Given the description of an element on the screen output the (x, y) to click on. 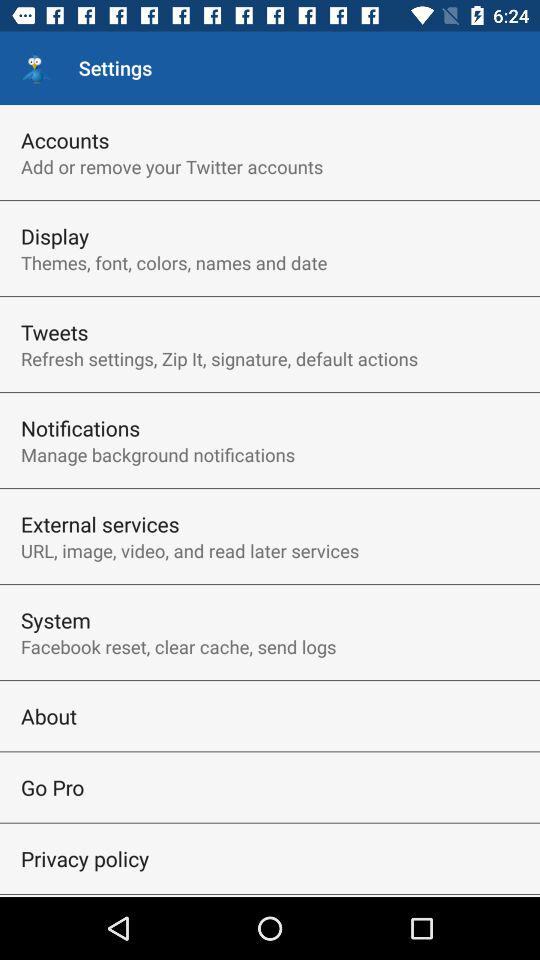
turn off item below the manage background notifications item (100, 524)
